Given the description of an element on the screen output the (x, y) to click on. 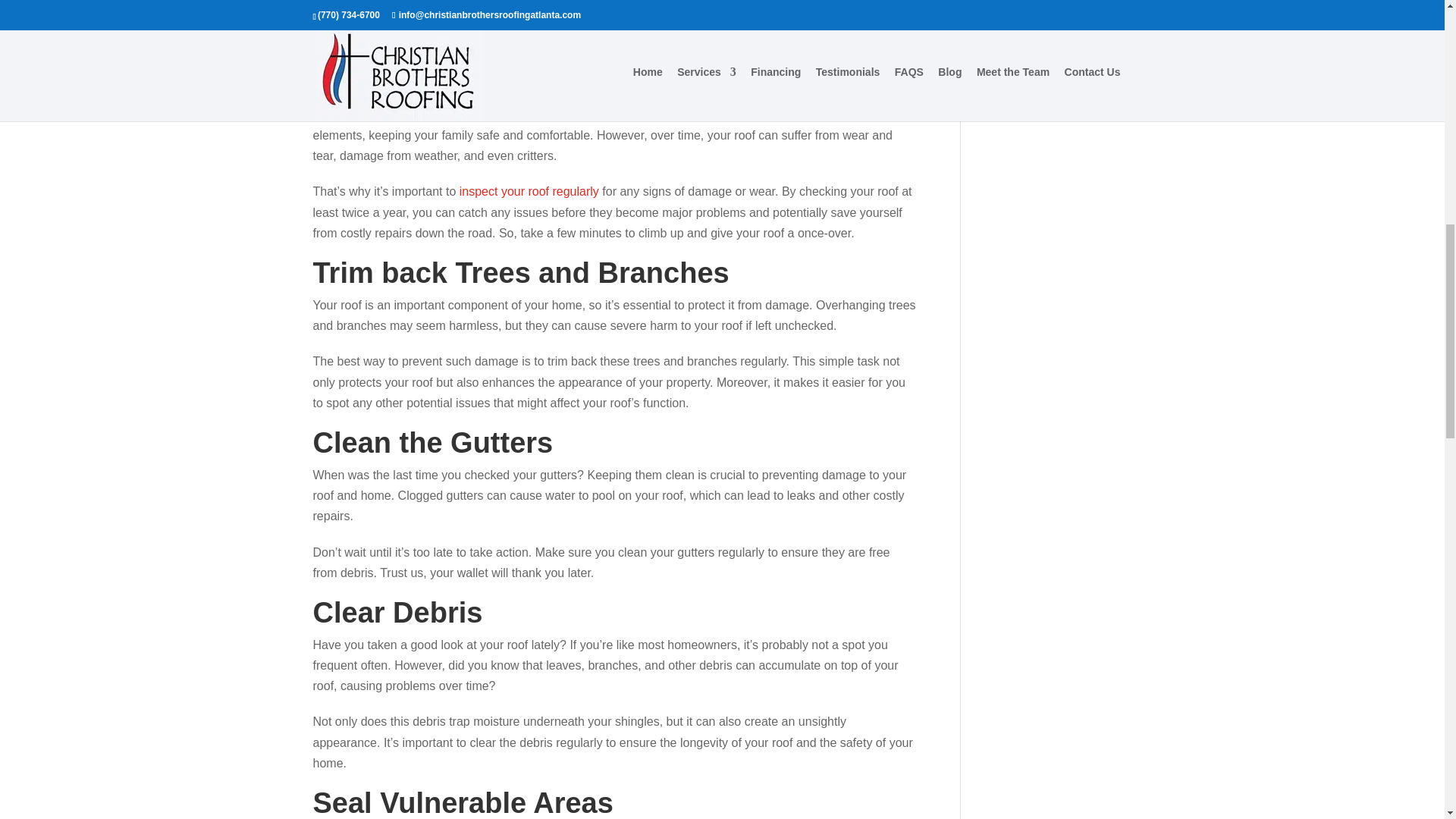
inspect your roof regularly (529, 191)
